Given the description of an element on the screen output the (x, y) to click on. 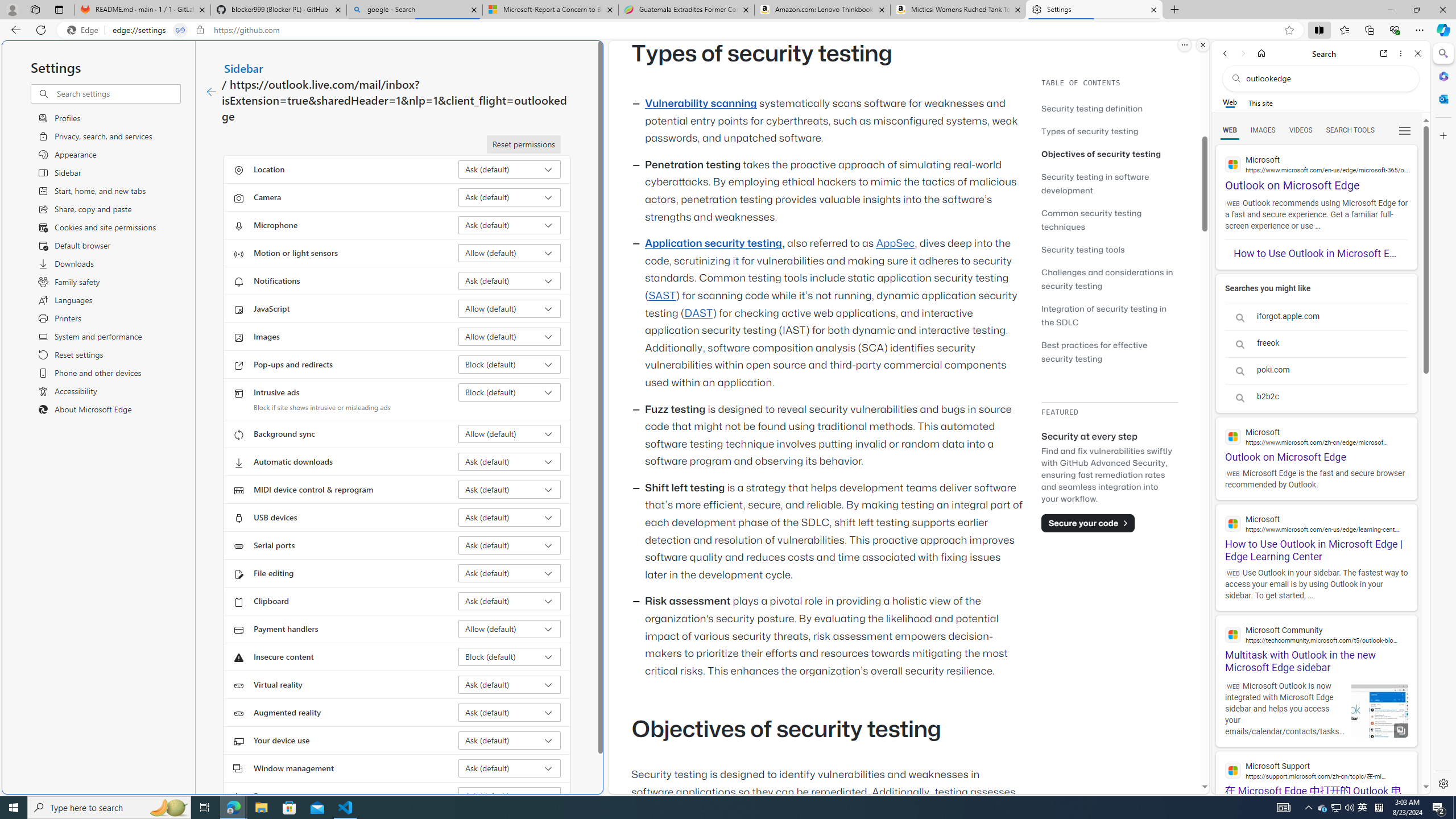
Types of security testing (1109, 130)
Microphone Ask (default) (509, 225)
Go back to Sidebar page. (210, 91)
Integration of security testing in the SDLC (1109, 315)
b2b2c (1315, 397)
Background sync Allow (default) (509, 434)
